Given the description of an element on the screen output the (x, y) to click on. 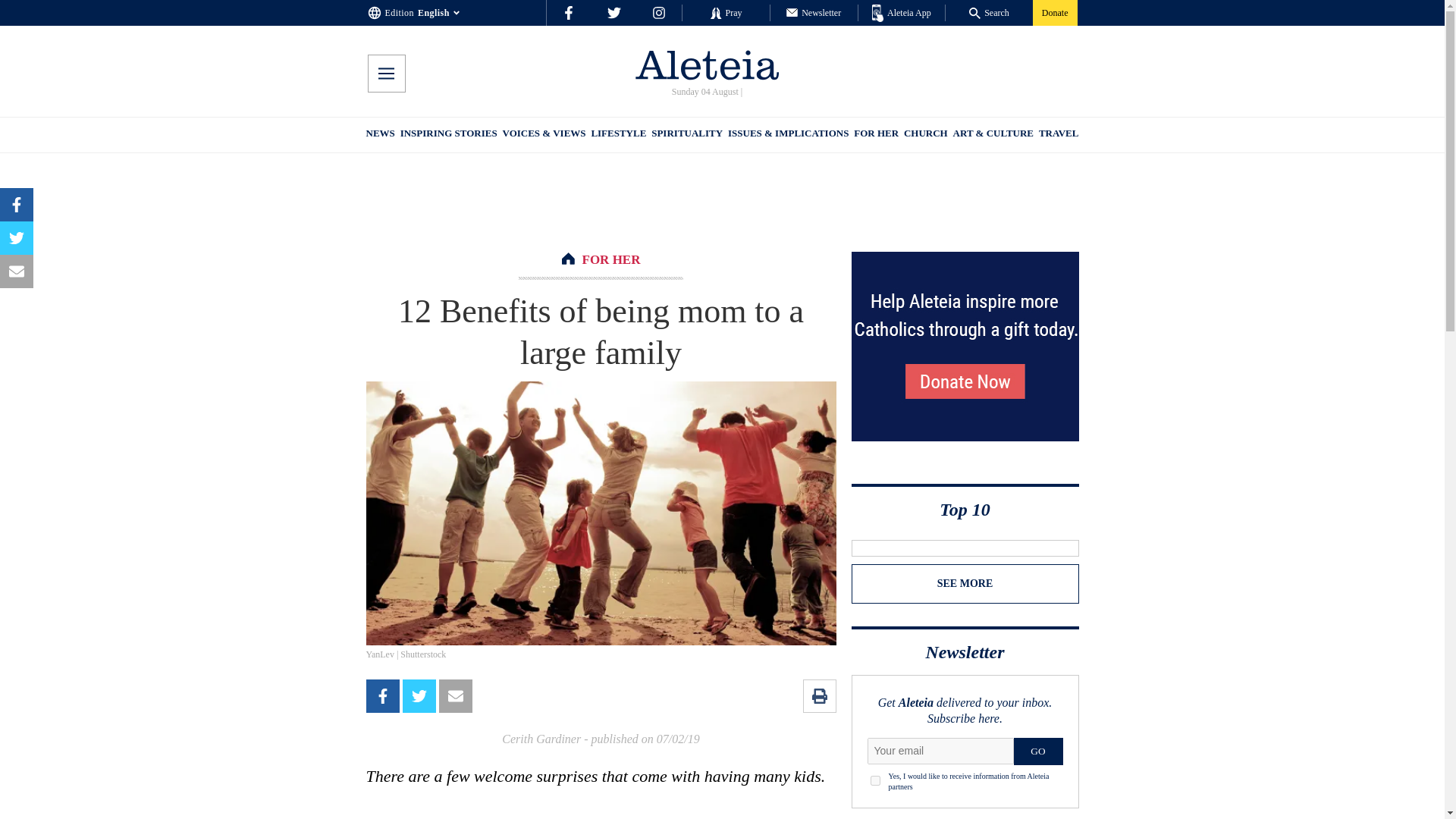
Donate (1054, 12)
FOR HER (611, 259)
TRAVEL (1058, 134)
NEWS (379, 134)
LIFESTYLE (618, 134)
FOR HER (875, 134)
INSPIRING STORIES (448, 134)
Aleteia App (901, 13)
1 (875, 780)
SPIRITUALITY (686, 134)
Newsletter (813, 12)
Search (989, 12)
Pray (725, 12)
CHURCH (925, 134)
